Given the description of an element on the screen output the (x, y) to click on. 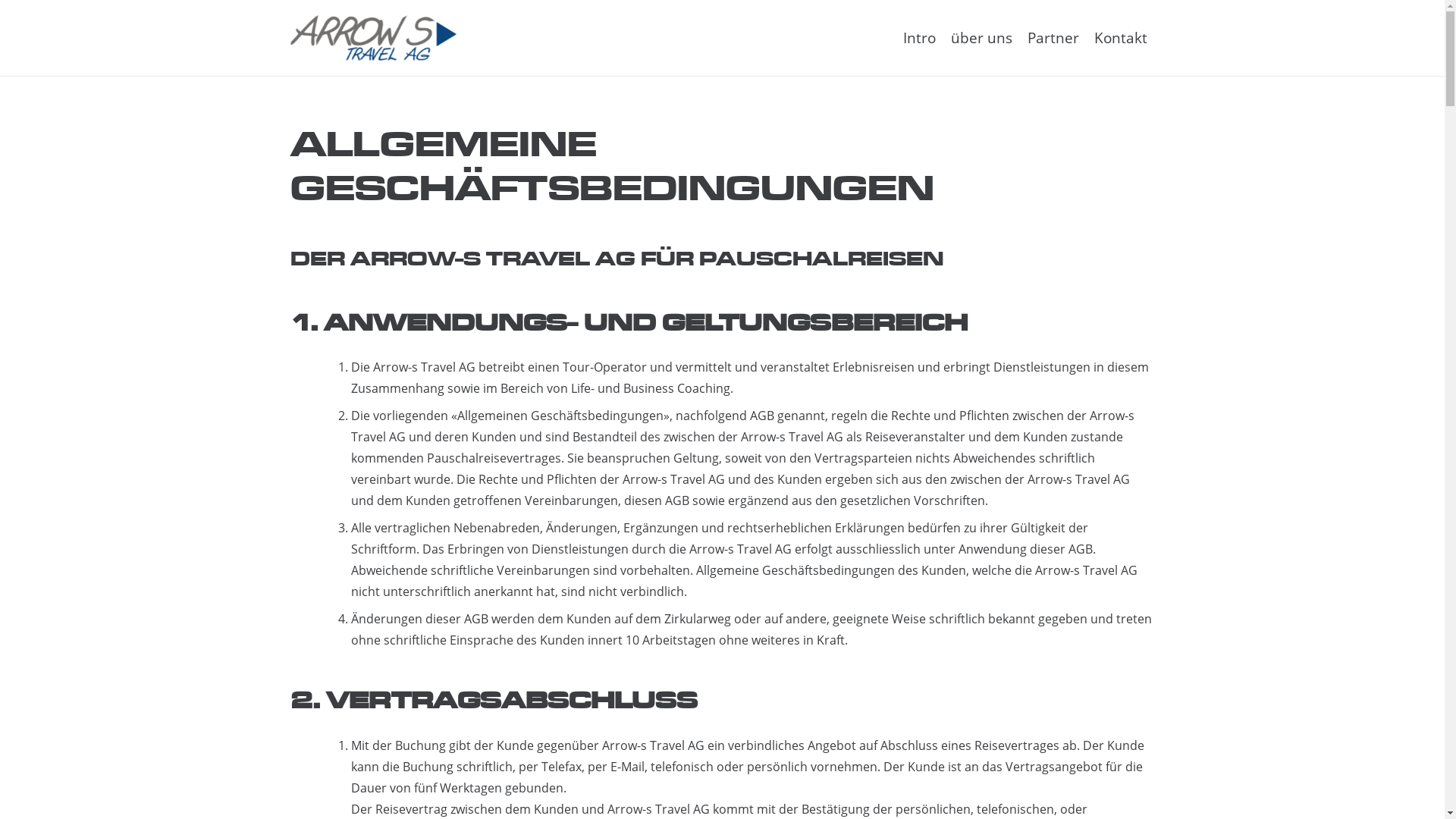
Kontakt Element type: text (1119, 37)
Partner Element type: text (1052, 37)
Intro Element type: text (918, 37)
